Given the description of an element on the screen output the (x, y) to click on. 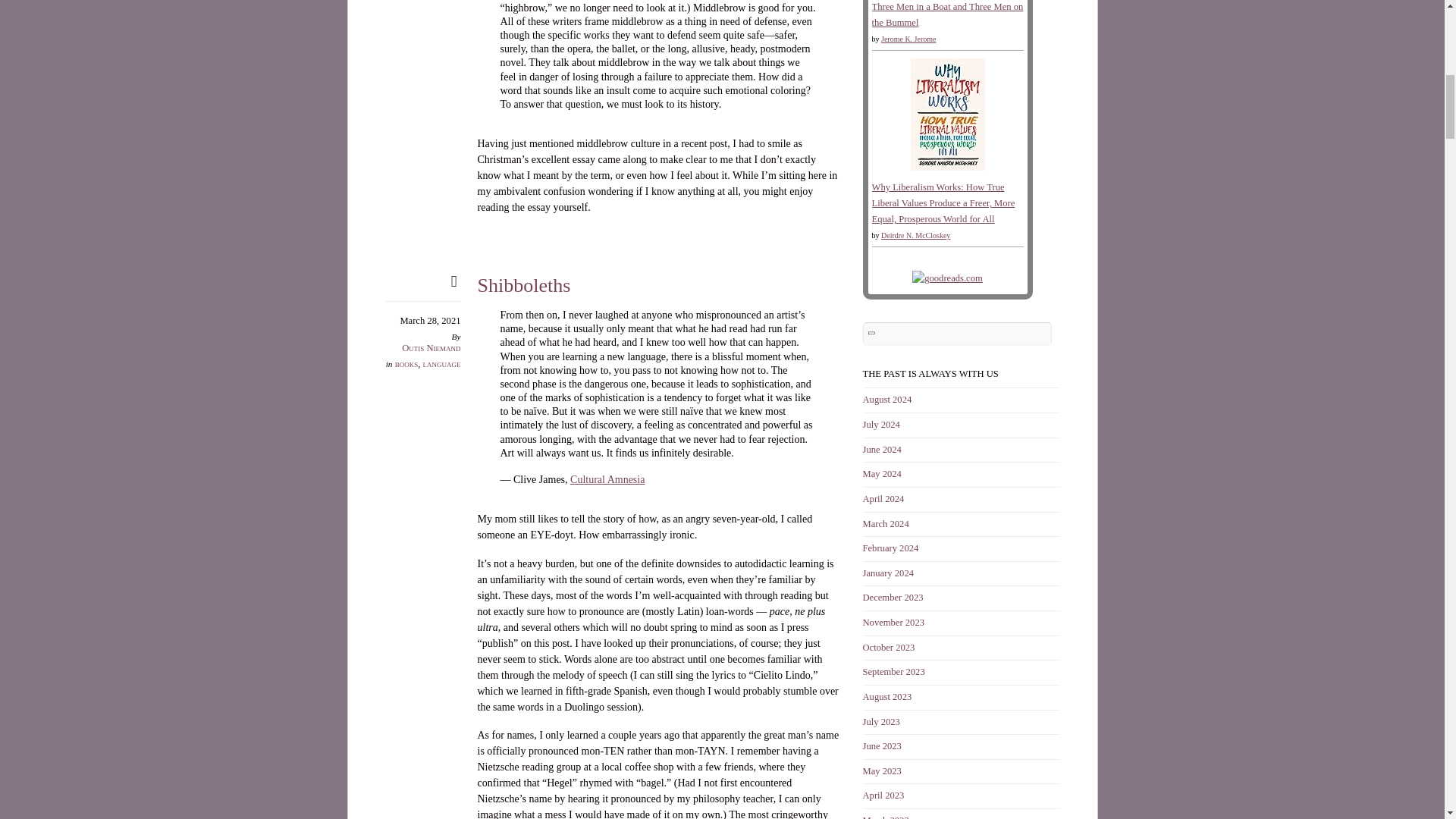
Search (957, 333)
books (406, 363)
Outis Niemand (430, 347)
Cultural Amnesia (607, 479)
Shibboleths (523, 285)
language (442, 363)
